Given the description of an element on the screen output the (x, y) to click on. 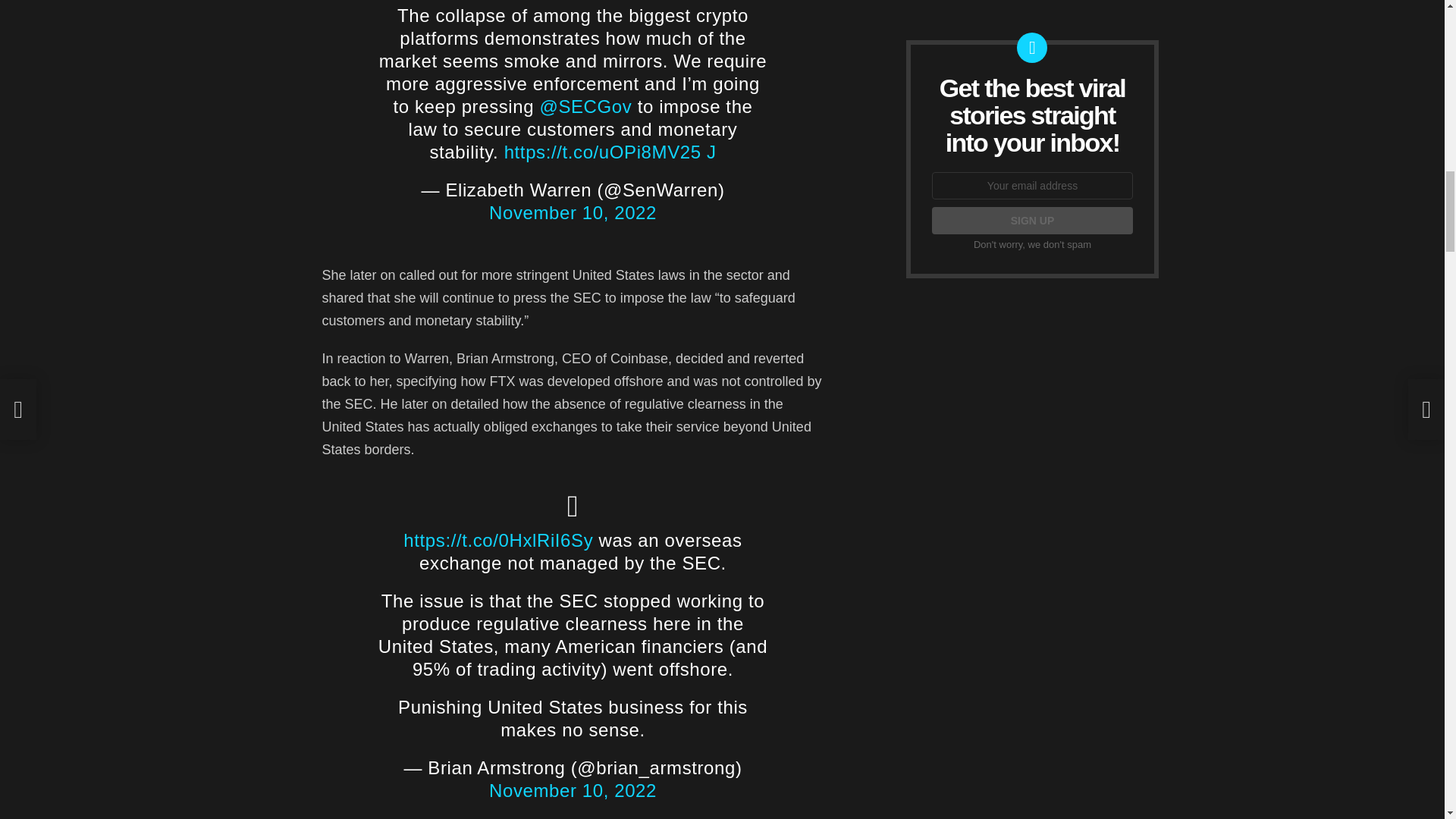
November 10, 2022 (572, 212)
November 10, 2022 (572, 790)
Sign up (1031, 220)
